Given the description of an element on the screen output the (x, y) to click on. 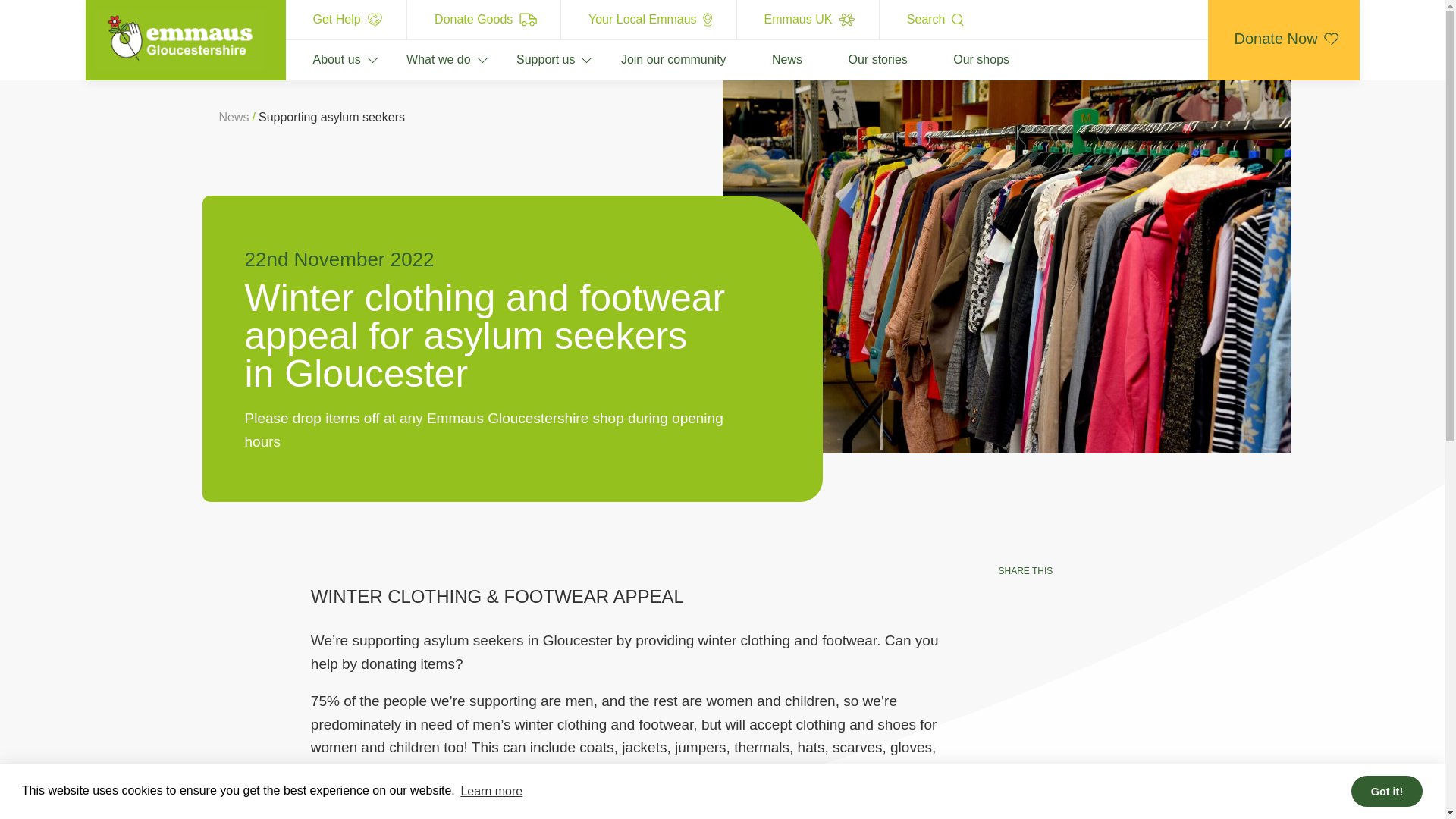
News (771, 59)
Support us (530, 59)
Get Help (346, 19)
Our stories (863, 59)
Got it! (1386, 790)
Learn more (491, 790)
Join our community (658, 59)
What we do (422, 59)
Your Local Emmaus (648, 19)
